Given the description of an element on the screen output the (x, y) to click on. 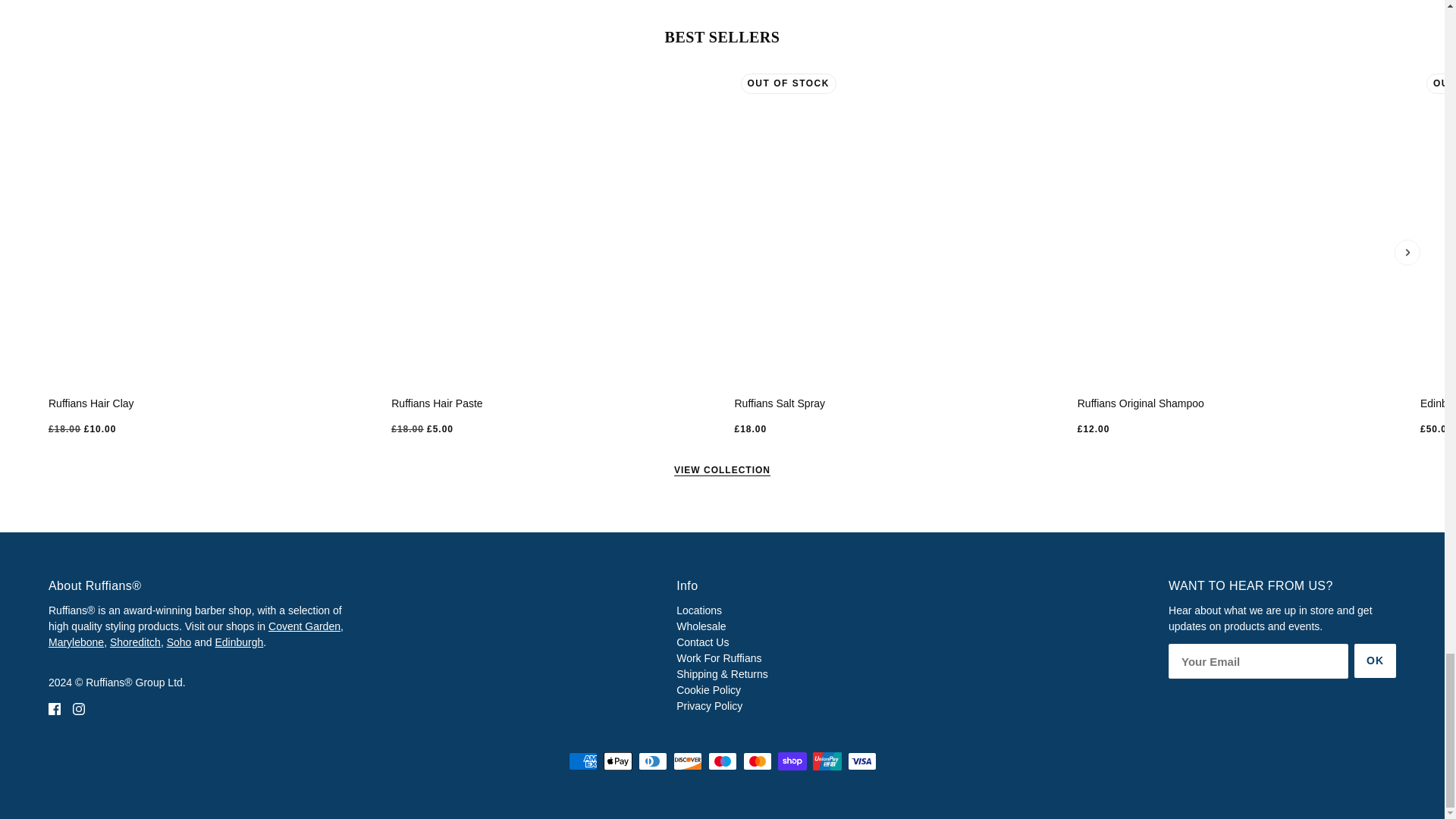
Covent Garden (303, 625)
Ruffians Soho - Liberty (179, 642)
Privacy Policy (709, 705)
Ruffians Shoreditch (135, 642)
BEST SELLERS (722, 36)
Ruffians Edinburgh (239, 642)
Locations (699, 610)
Cookie Policy (709, 689)
American Express (582, 761)
Wholesale (701, 625)
